Given the description of an element on the screen output the (x, y) to click on. 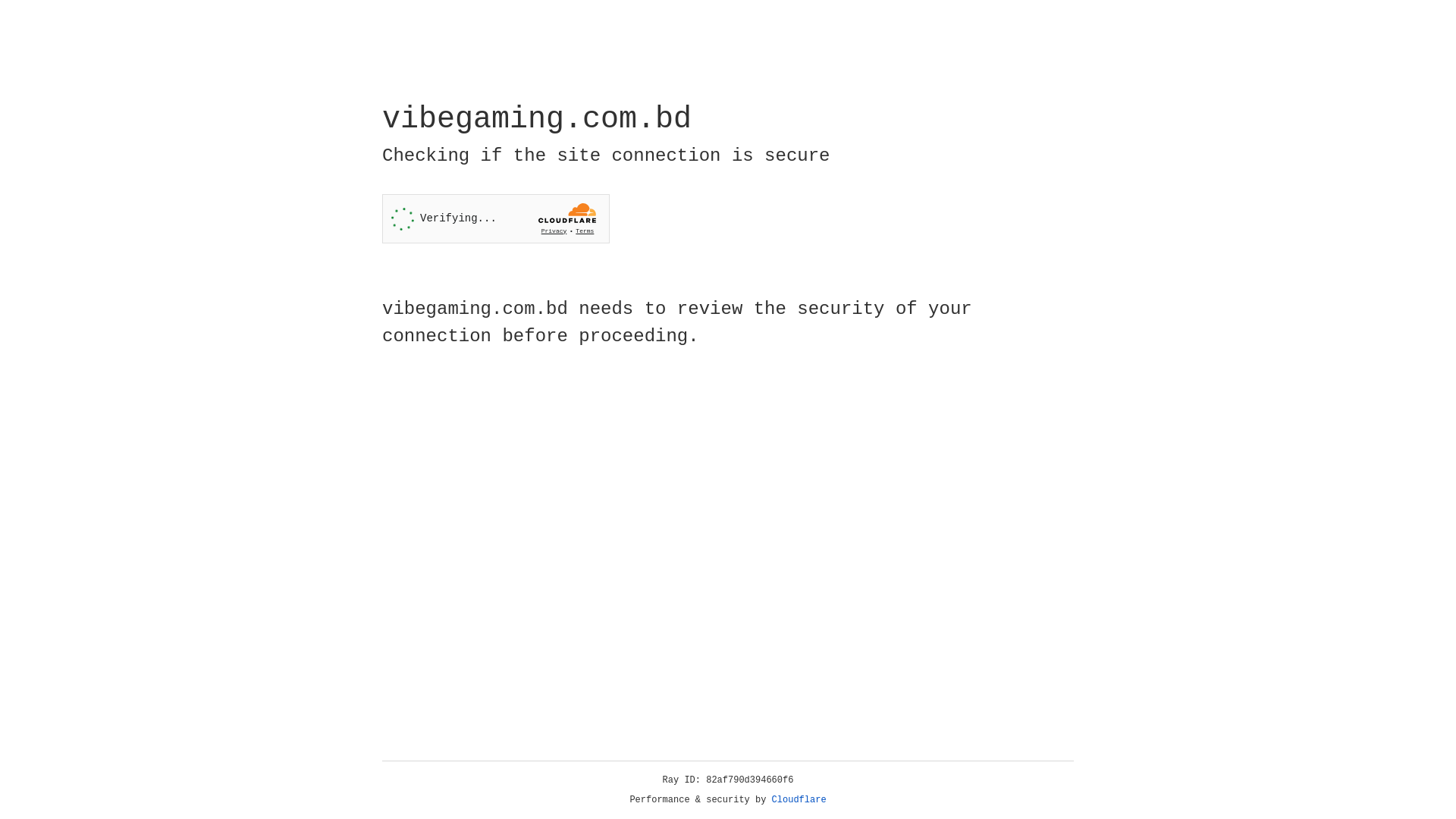
Cloudflare Element type: text (798, 799)
Widget containing a Cloudflare security challenge Element type: hover (495, 218)
